Given the description of an element on the screen output the (x, y) to click on. 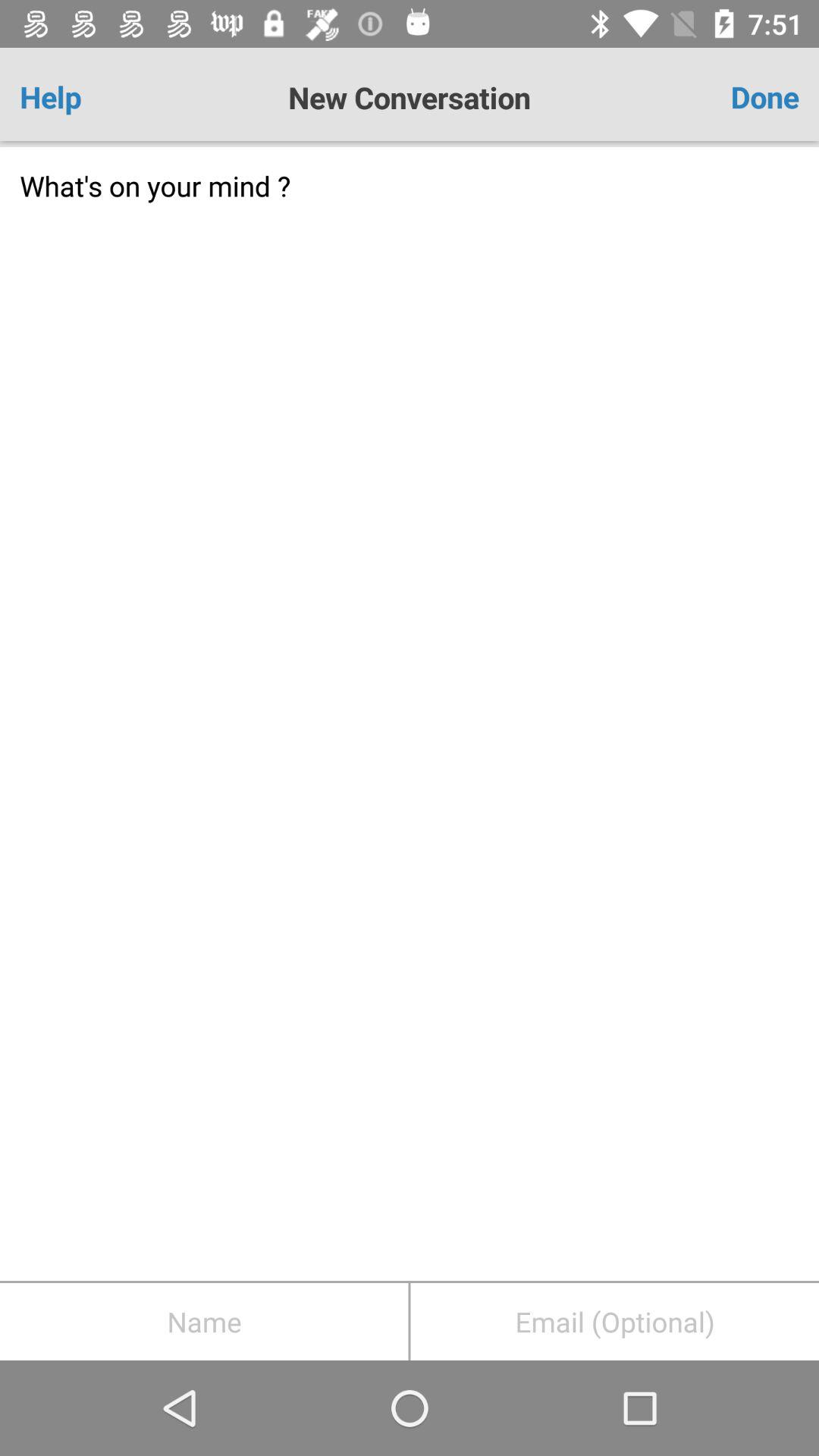
type a message (409, 713)
